Given the description of an element on the screen output the (x, y) to click on. 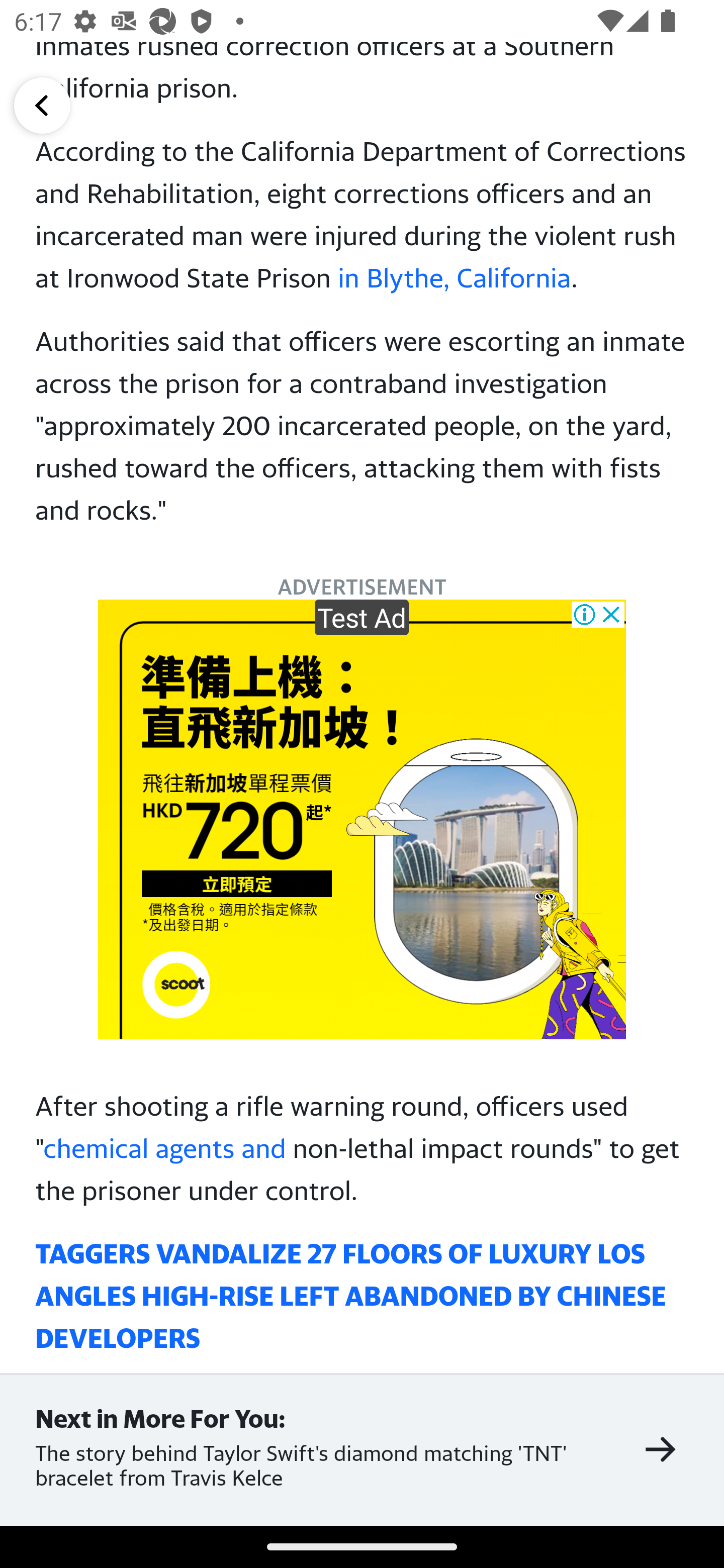
Back (41, 104)
in Blythe, California (453, 276)
chemical agents and (163, 1147)
